Given the description of an element on the screen output the (x, y) to click on. 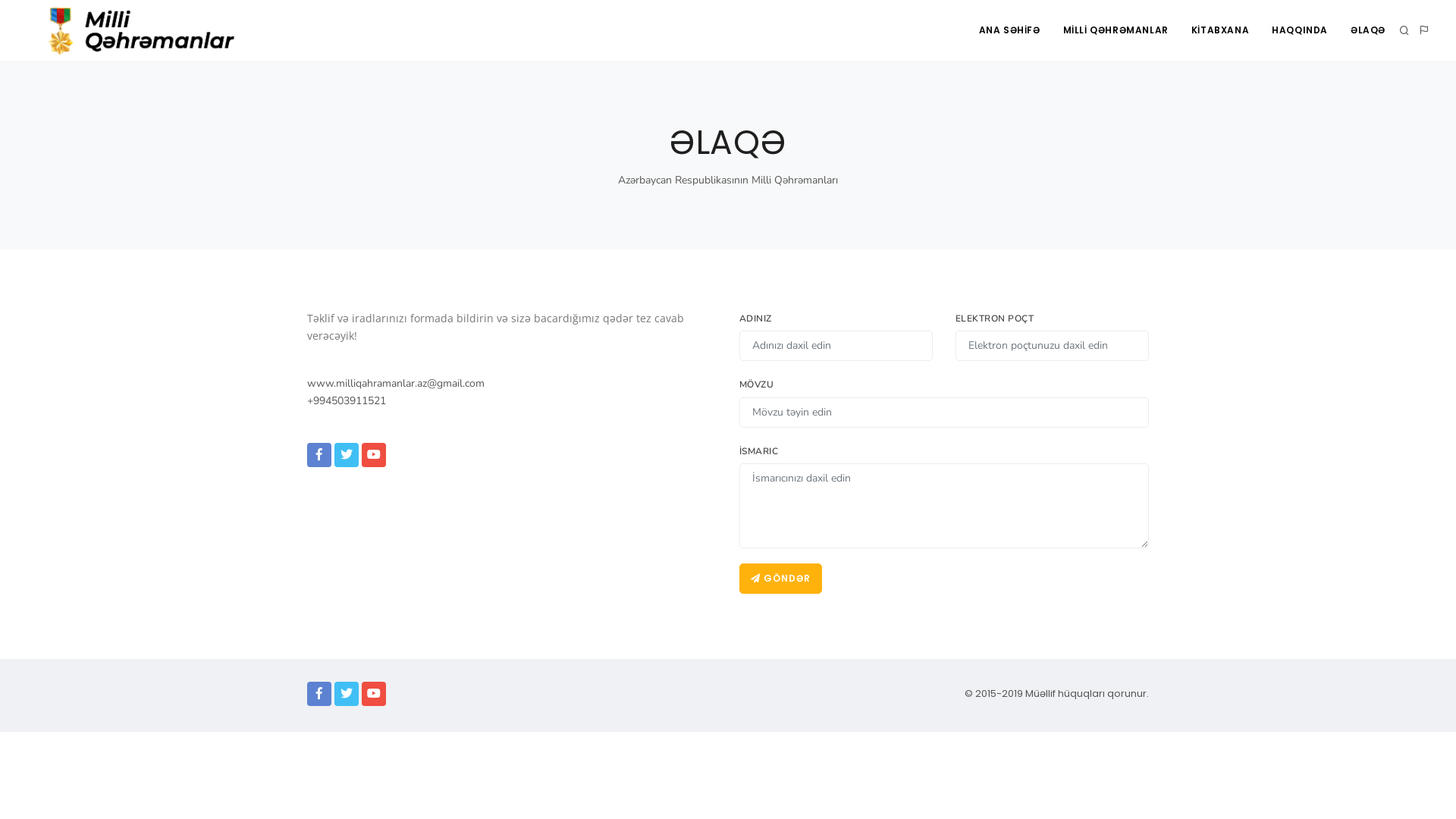
HAQQINDA Element type: text (1299, 29)
